Given the description of an element on the screen output the (x, y) to click on. 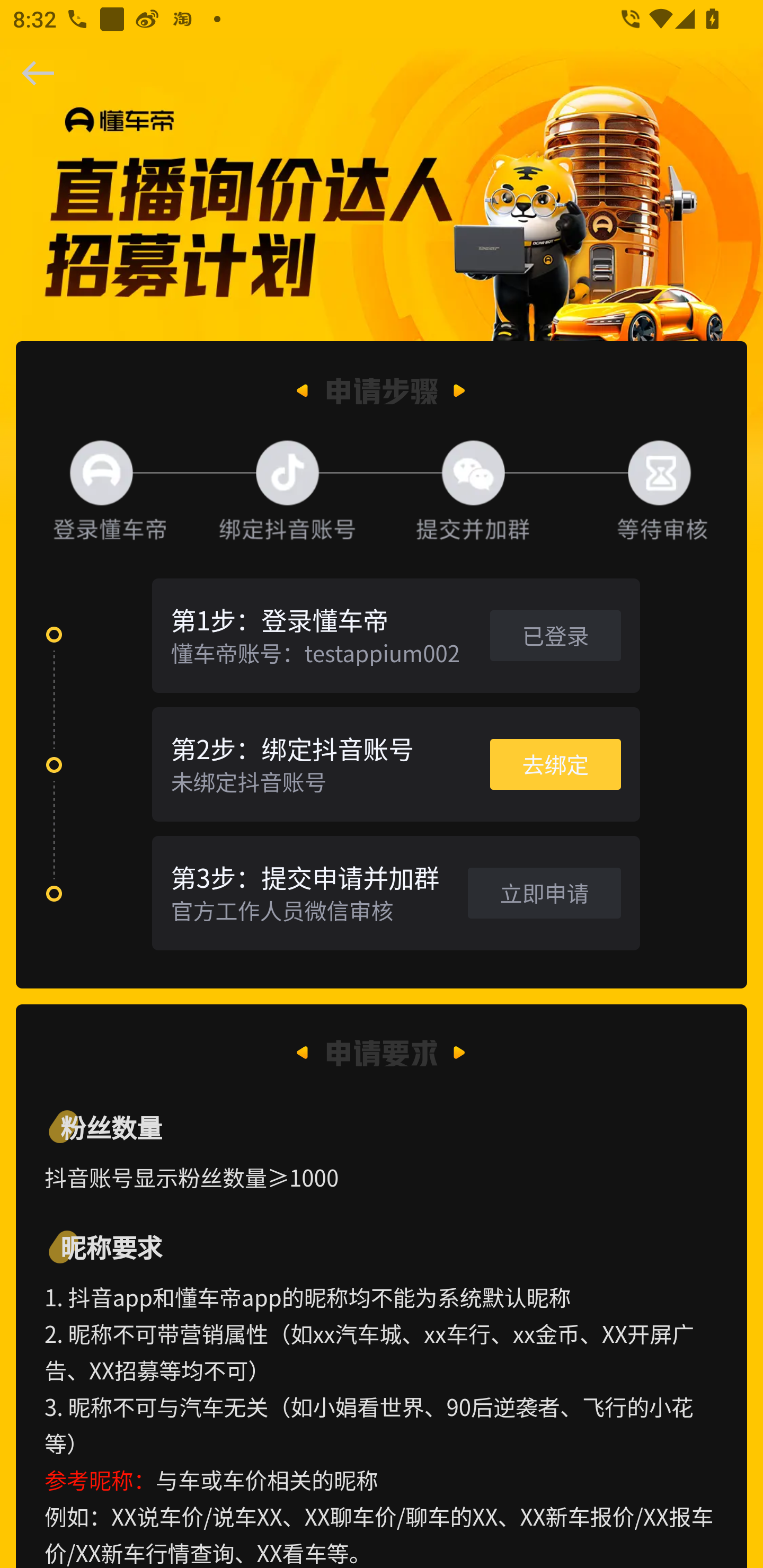
已登录 (555, 635)
去绑定 (555, 763)
立即申请 (543, 892)
